Given the description of an element on the screen output the (x, y) to click on. 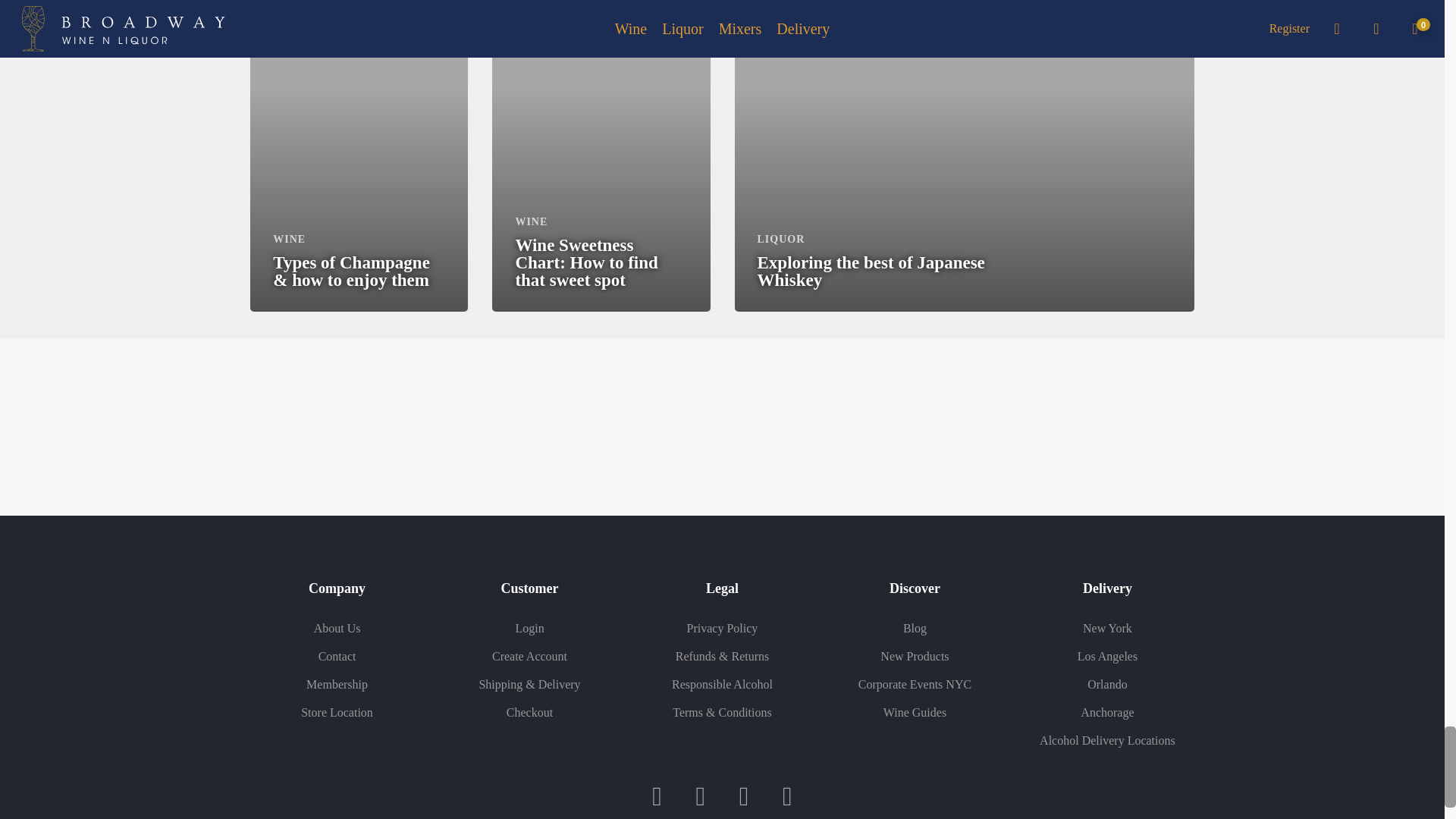
Facebook (657, 795)
Instagram (699, 795)
Google Maps (787, 795)
